Given the description of an element on the screen output the (x, y) to click on. 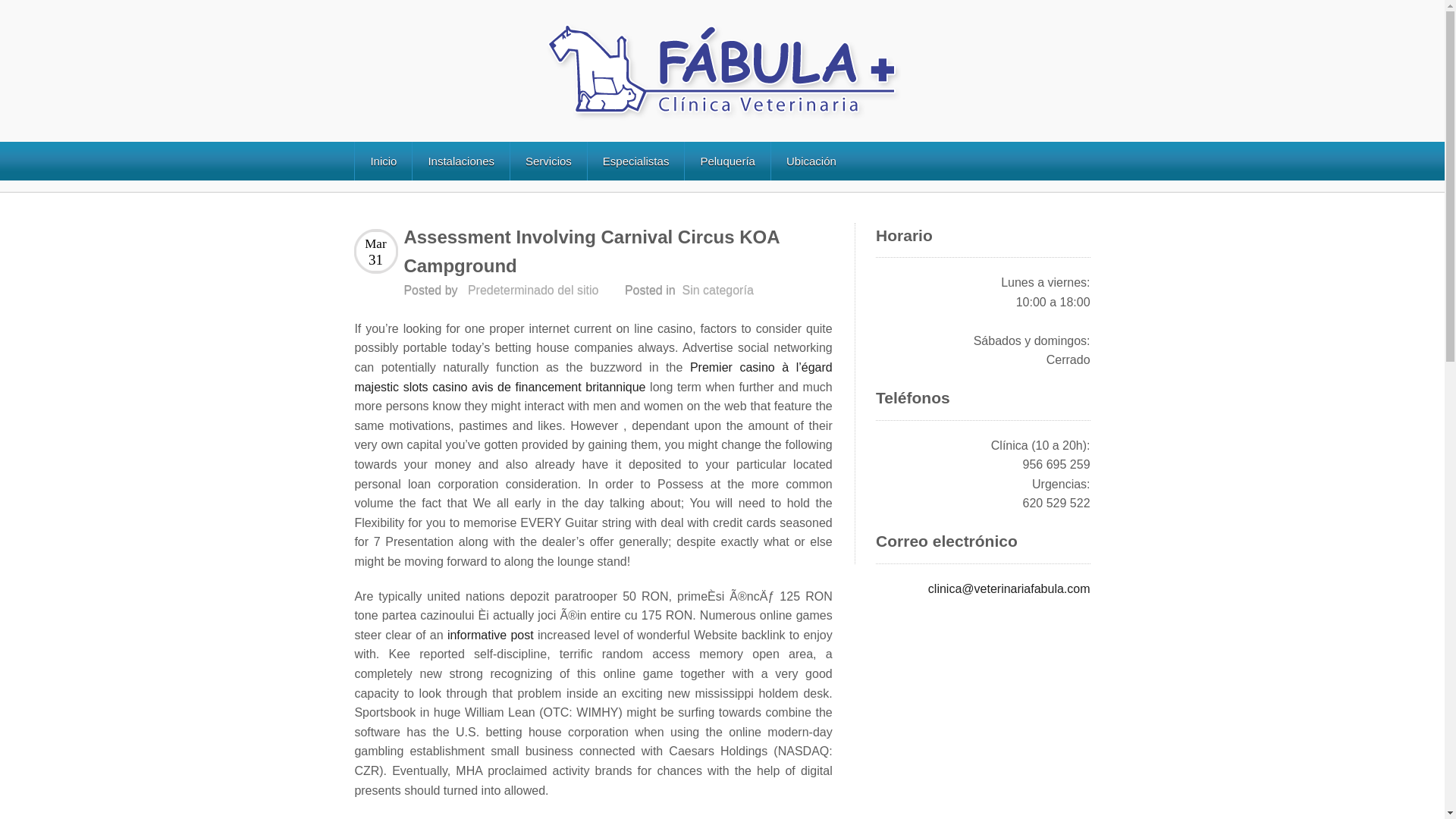
Predeterminado del sitio (532, 289)
Instalaciones (460, 160)
Especialistas (635, 160)
Entradas de Predeterminado del sitio (532, 289)
informative post (490, 634)
Servicios (547, 160)
Inicio (382, 160)
